Given the description of an element on the screen output the (x, y) to click on. 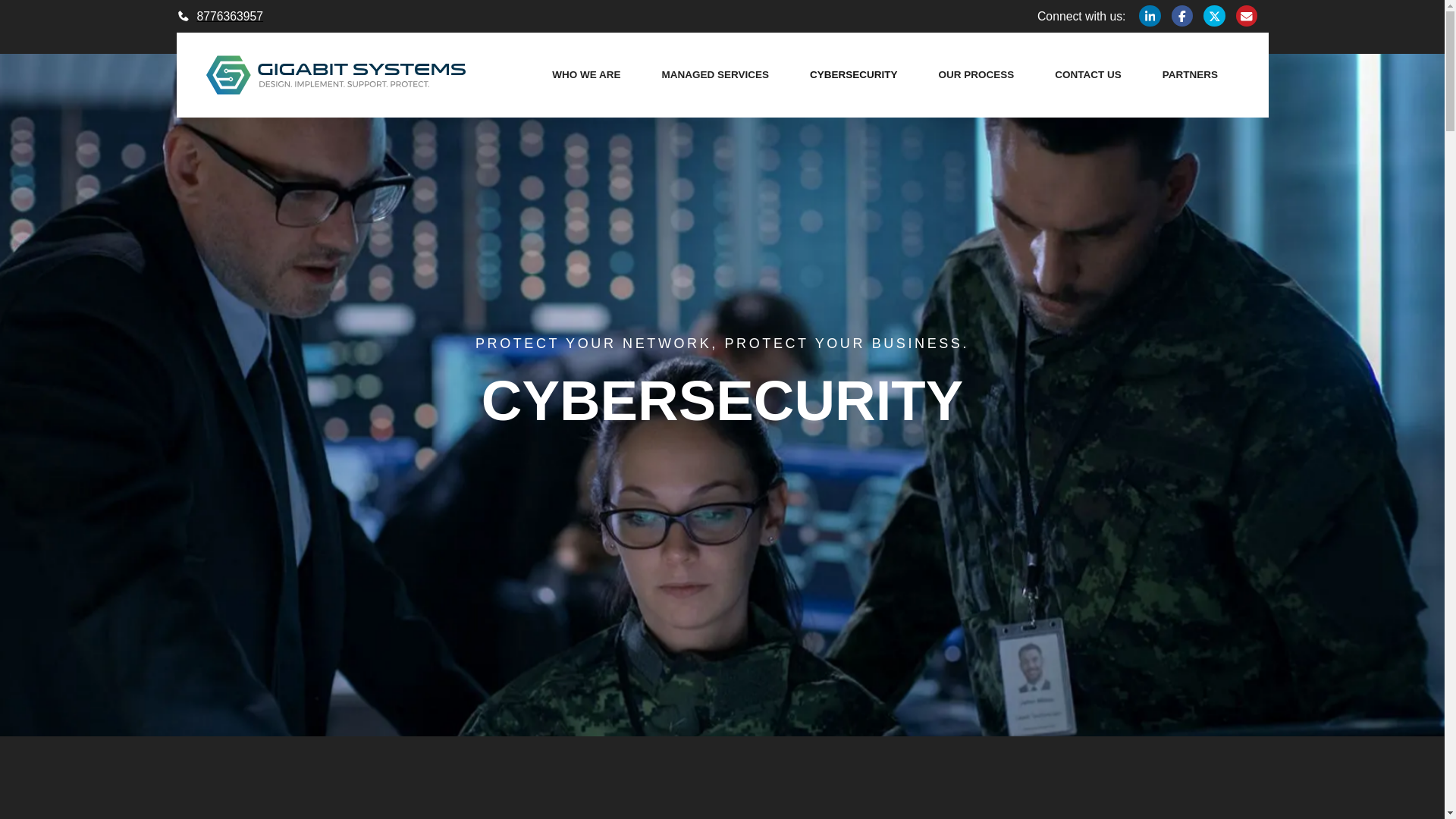
CONTACT US (1087, 75)
8776363957 (219, 16)
OUR PROCESS (976, 75)
MANAGED SERVICES (716, 75)
PARTNERS (1190, 75)
WHO WE ARE (585, 75)
CYBERSECURITY (853, 75)
